Given the description of an element on the screen output the (x, y) to click on. 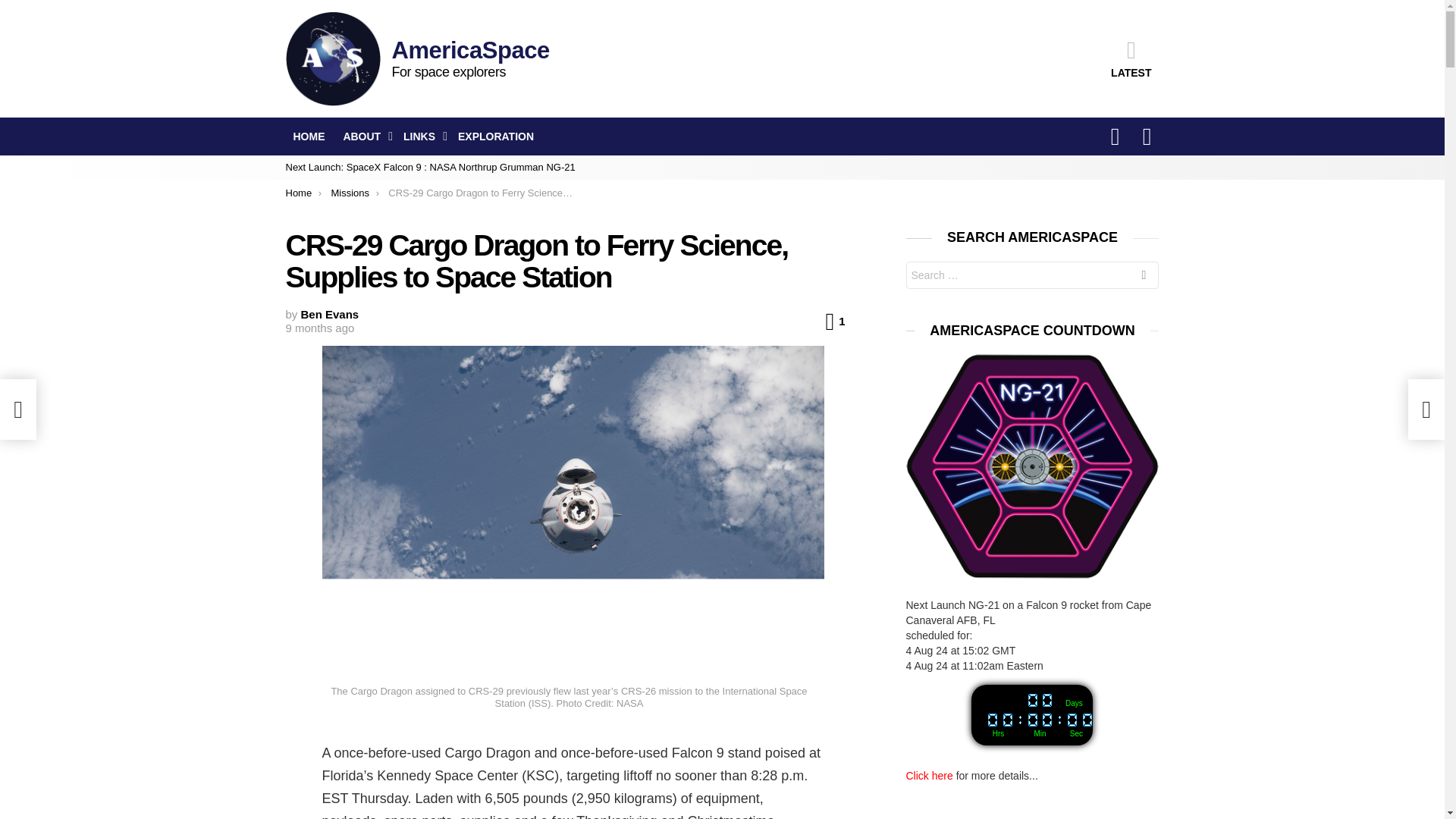
HOME (308, 136)
Posts by Ben Evans (330, 314)
Missions (349, 193)
EXPLORATION (495, 136)
Welcome (308, 136)
LINKS (421, 136)
LATEST (1130, 57)
About us (363, 136)
Links to other sites (421, 136)
ABOUT (363, 136)
